Given the description of an element on the screen output the (x, y) to click on. 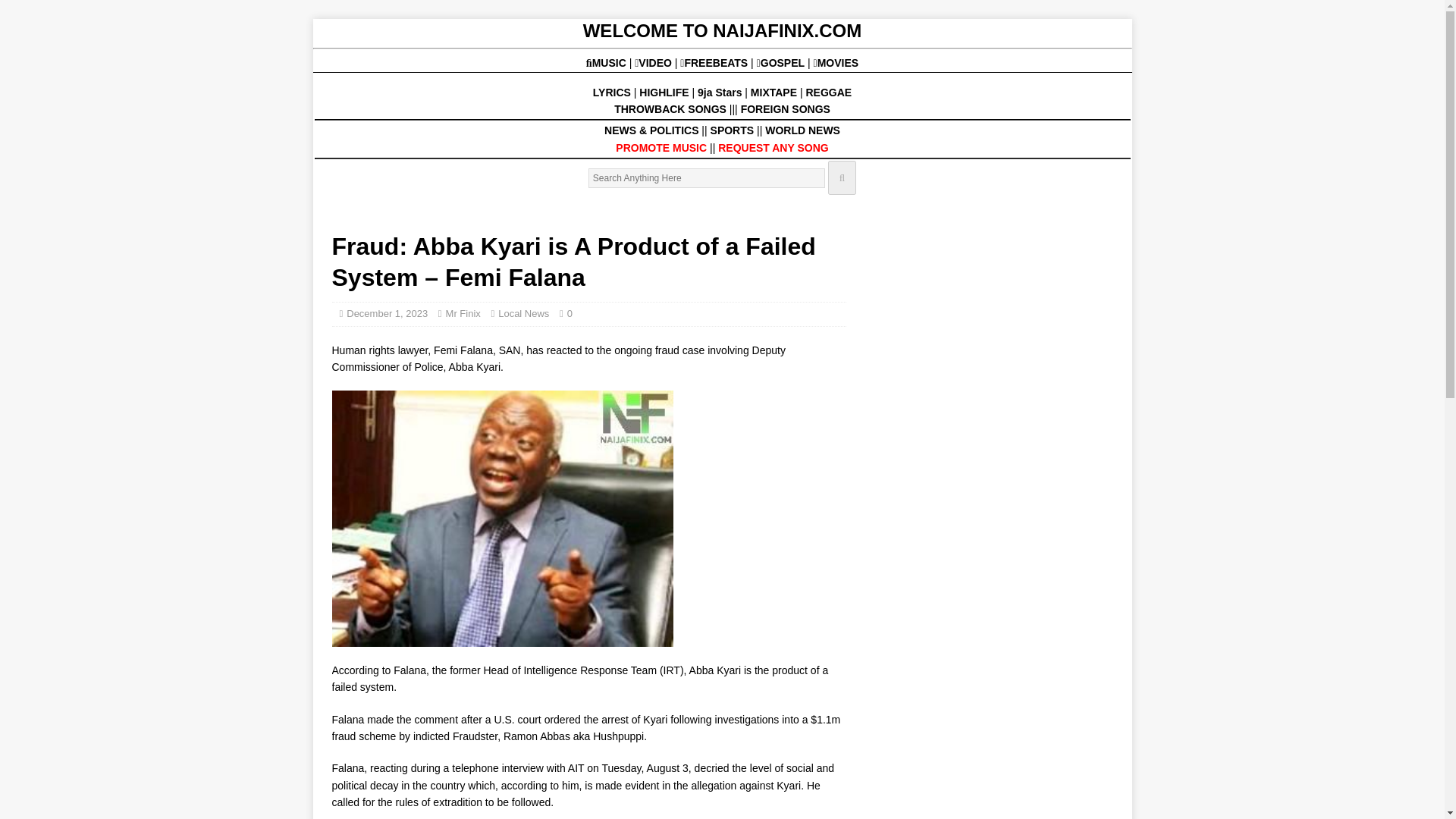
9ja Stars (719, 92)
GOSPEL (782, 62)
MOVIES (836, 62)
MIXTAPE (773, 92)
REQUEST ANY SONG (772, 147)
LYRICS (611, 92)
Local News (522, 313)
Mr Finix (462, 313)
WORLD NEWS (802, 130)
FOREIGN SONGS (785, 109)
THROWBACK SONGS (670, 109)
WELCOME TO NAIJAFINIX.COM (722, 30)
REGGAE (828, 92)
HIGHLIFE (665, 92)
PROMOTE MUSIC (660, 147)
